Given the description of an element on the screen output the (x, y) to click on. 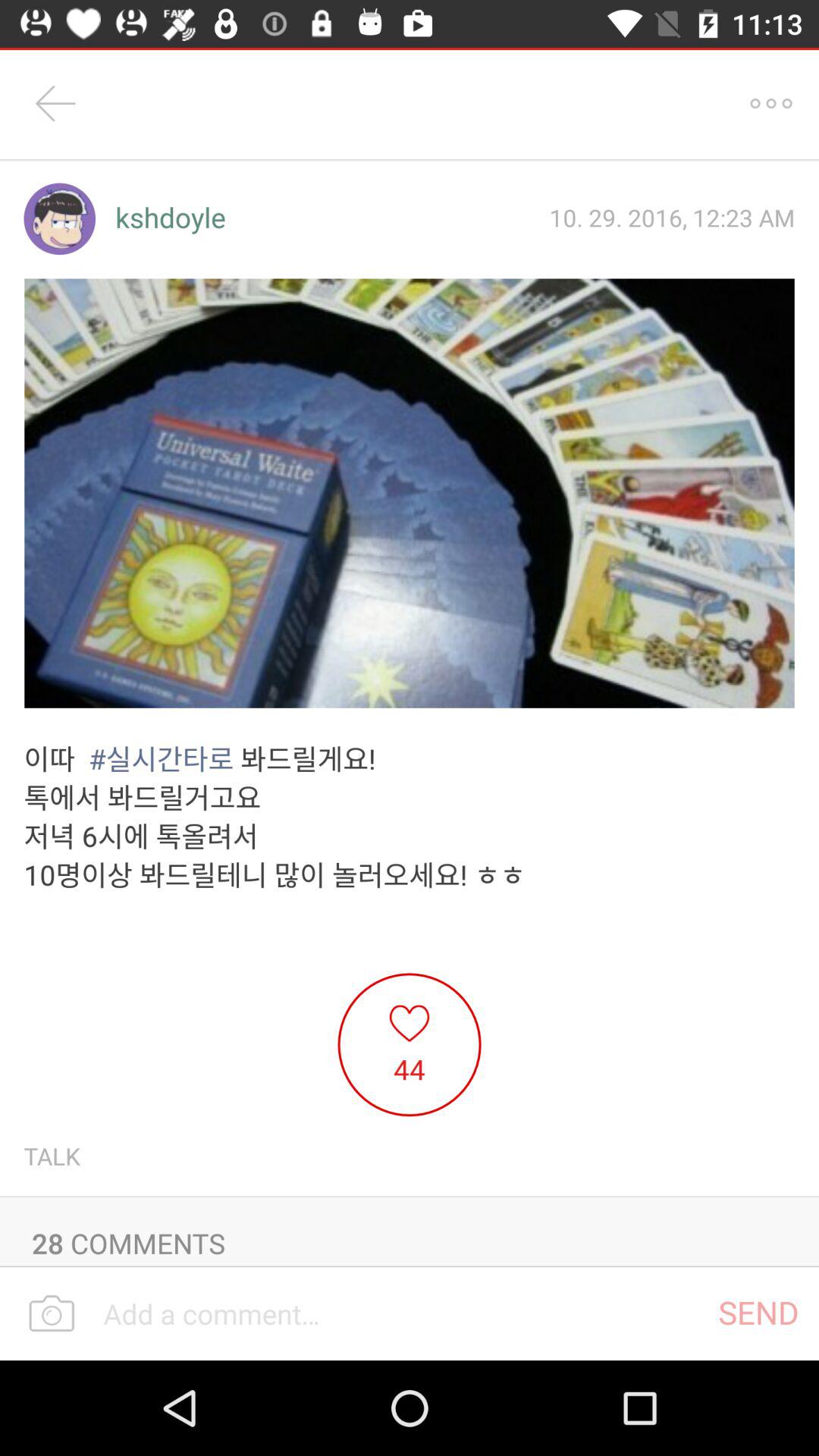
scroll to kshdoyle item (170, 218)
